Given the description of an element on the screen output the (x, y) to click on. 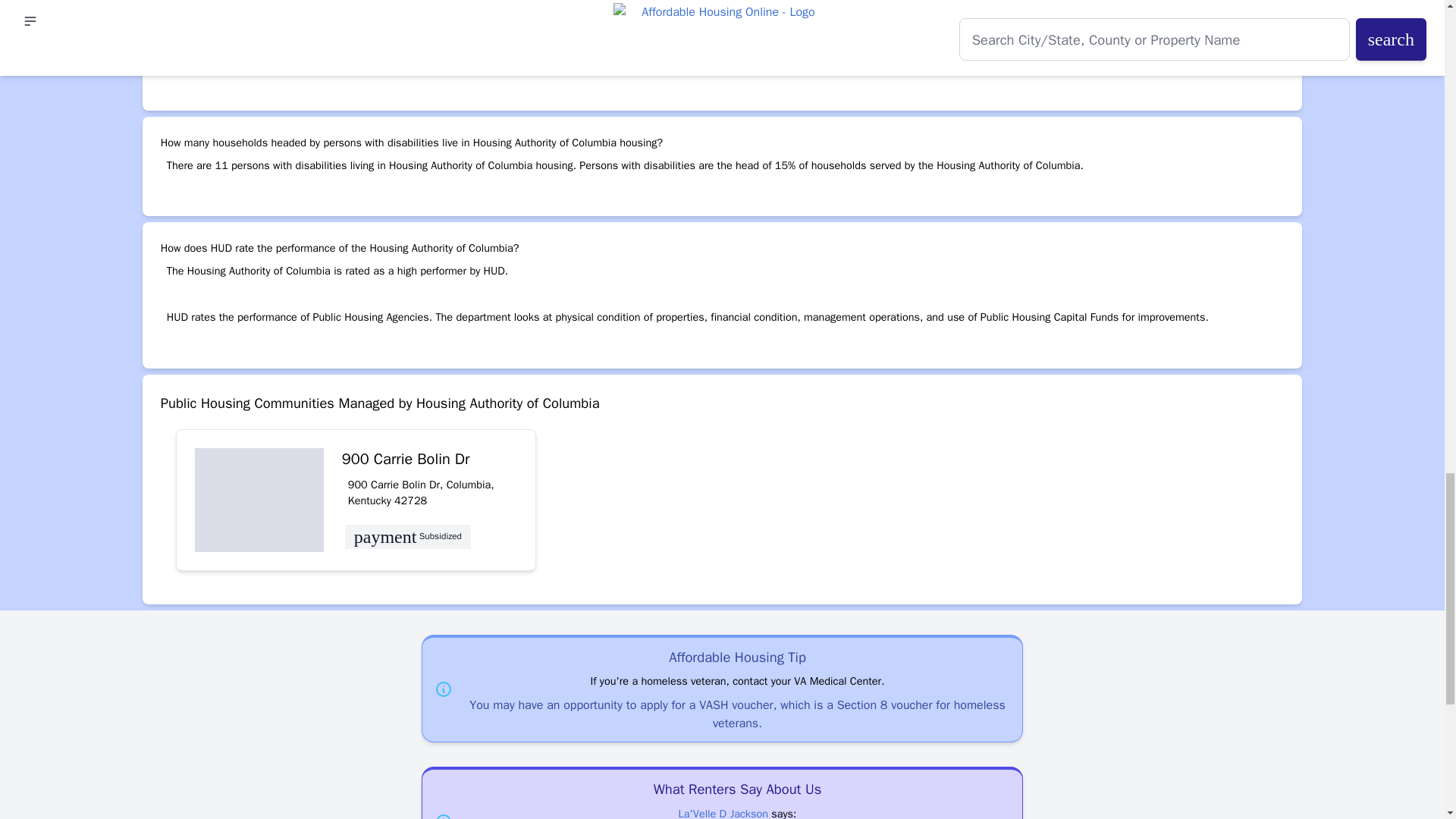
La'Velle D Jackson (723, 812)
900 Carrie Bolin Dr (429, 458)
